Given the description of an element on the screen output the (x, y) to click on. 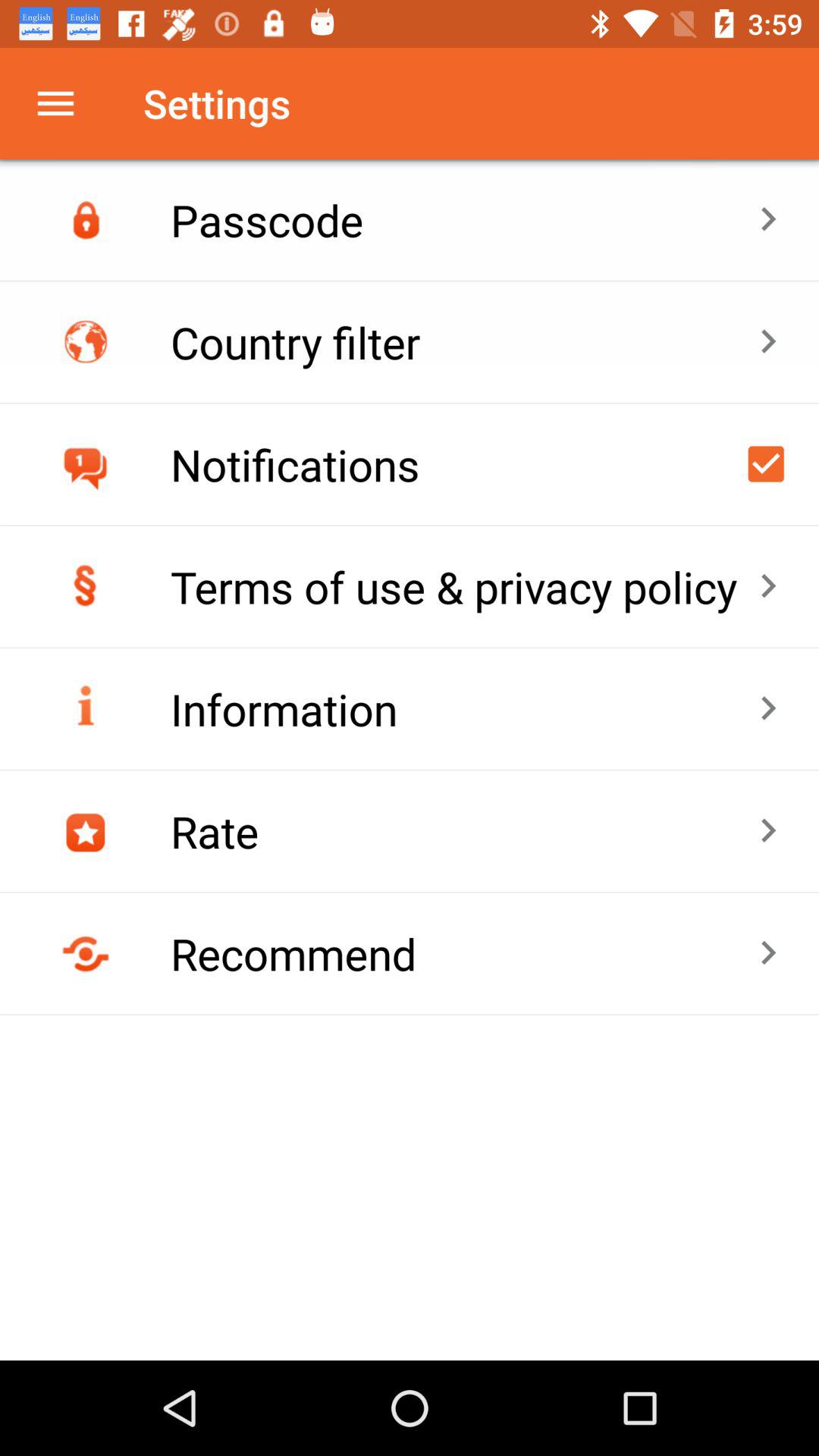
turn off recommend item (464, 953)
